Given the description of an element on the screen output the (x, y) to click on. 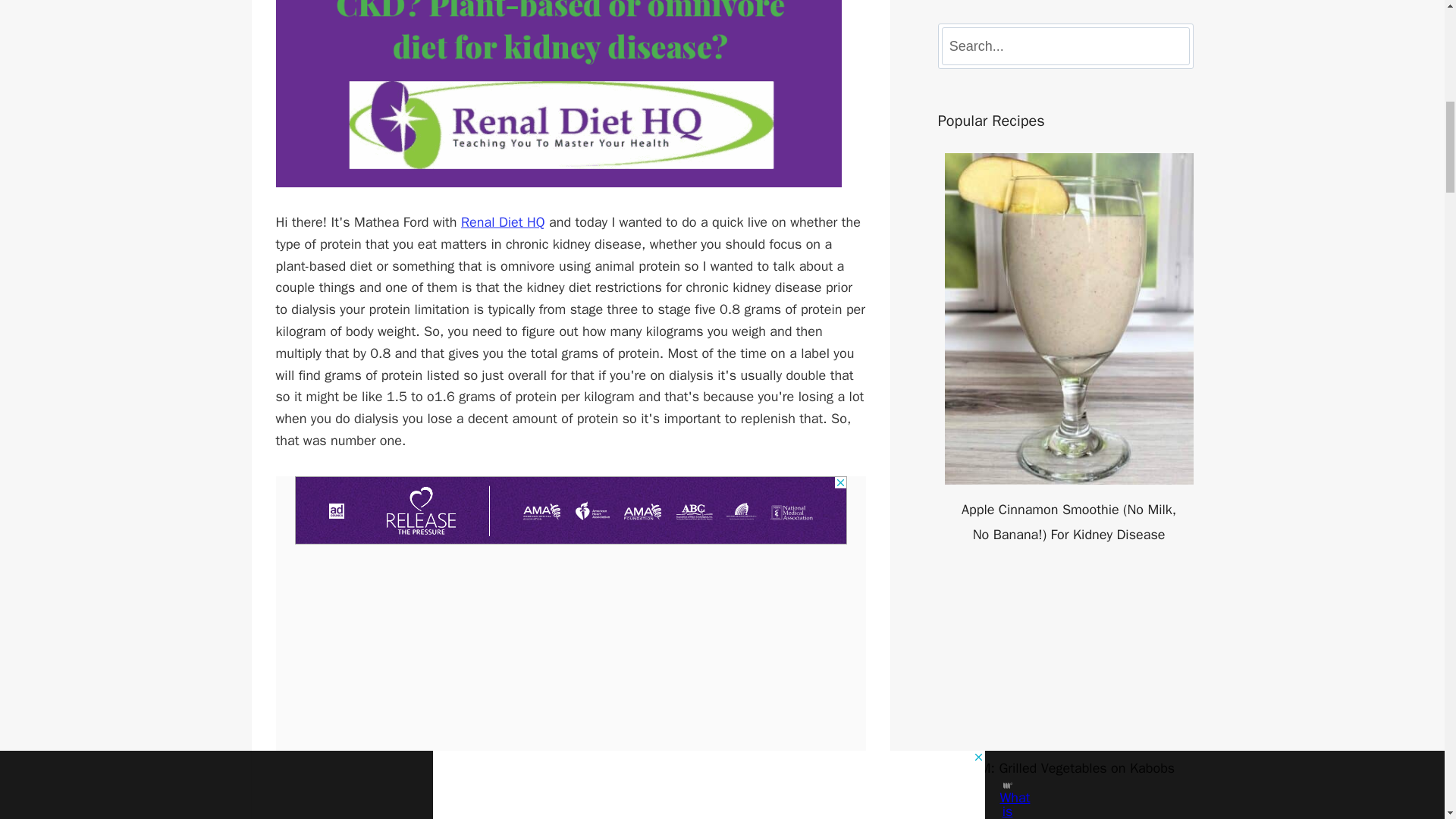
3rd party ad content (571, 509)
